Given the description of an element on the screen output the (x, y) to click on. 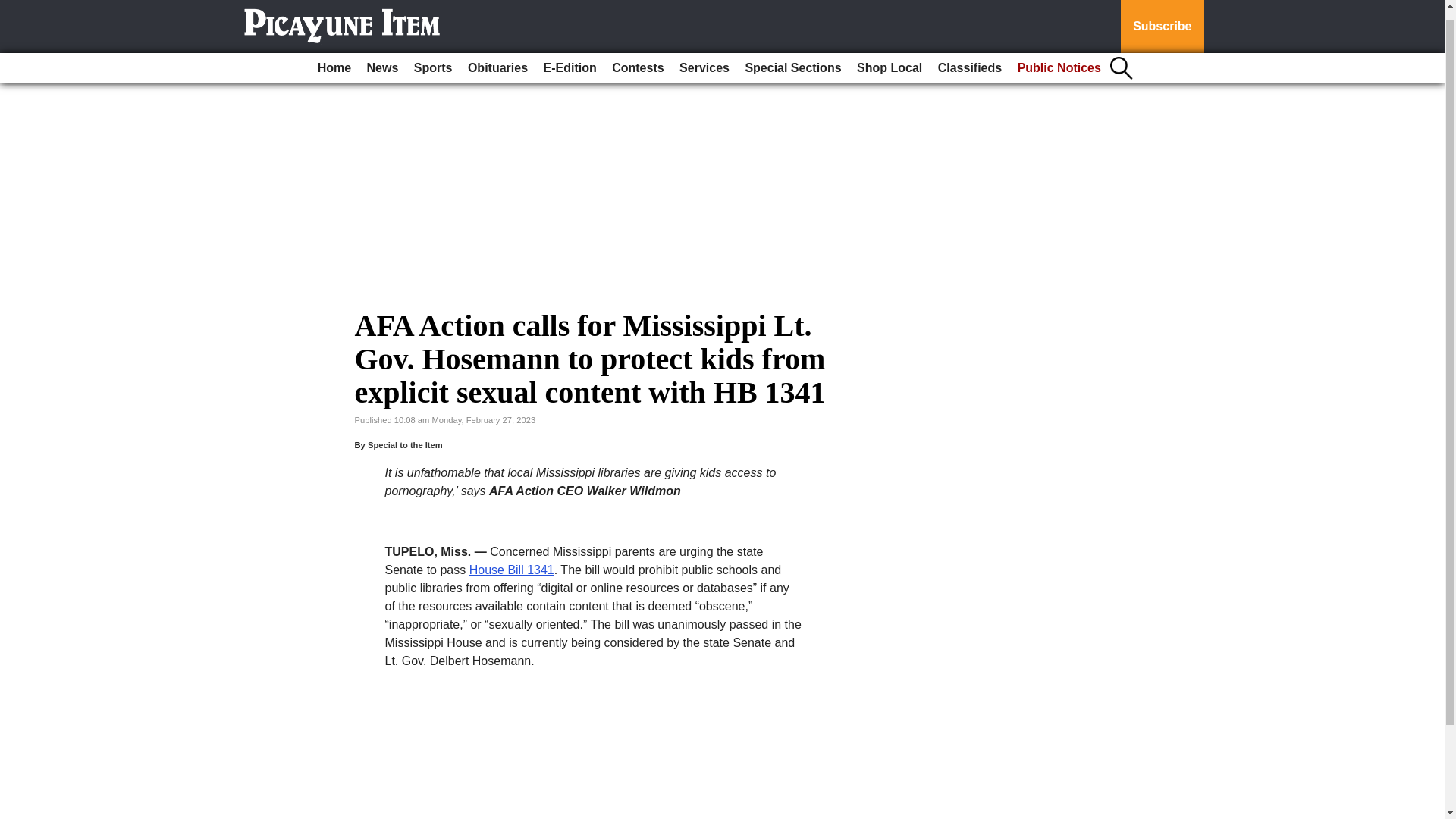
Services (703, 58)
Sports (432, 58)
Contests (637, 58)
Shop Local (889, 58)
Classifieds (969, 58)
House Bill 1341 (511, 569)
Home (333, 58)
Subscribe (1162, 21)
Obituaries (497, 58)
Special Sections (792, 58)
